Given the description of an element on the screen output the (x, y) to click on. 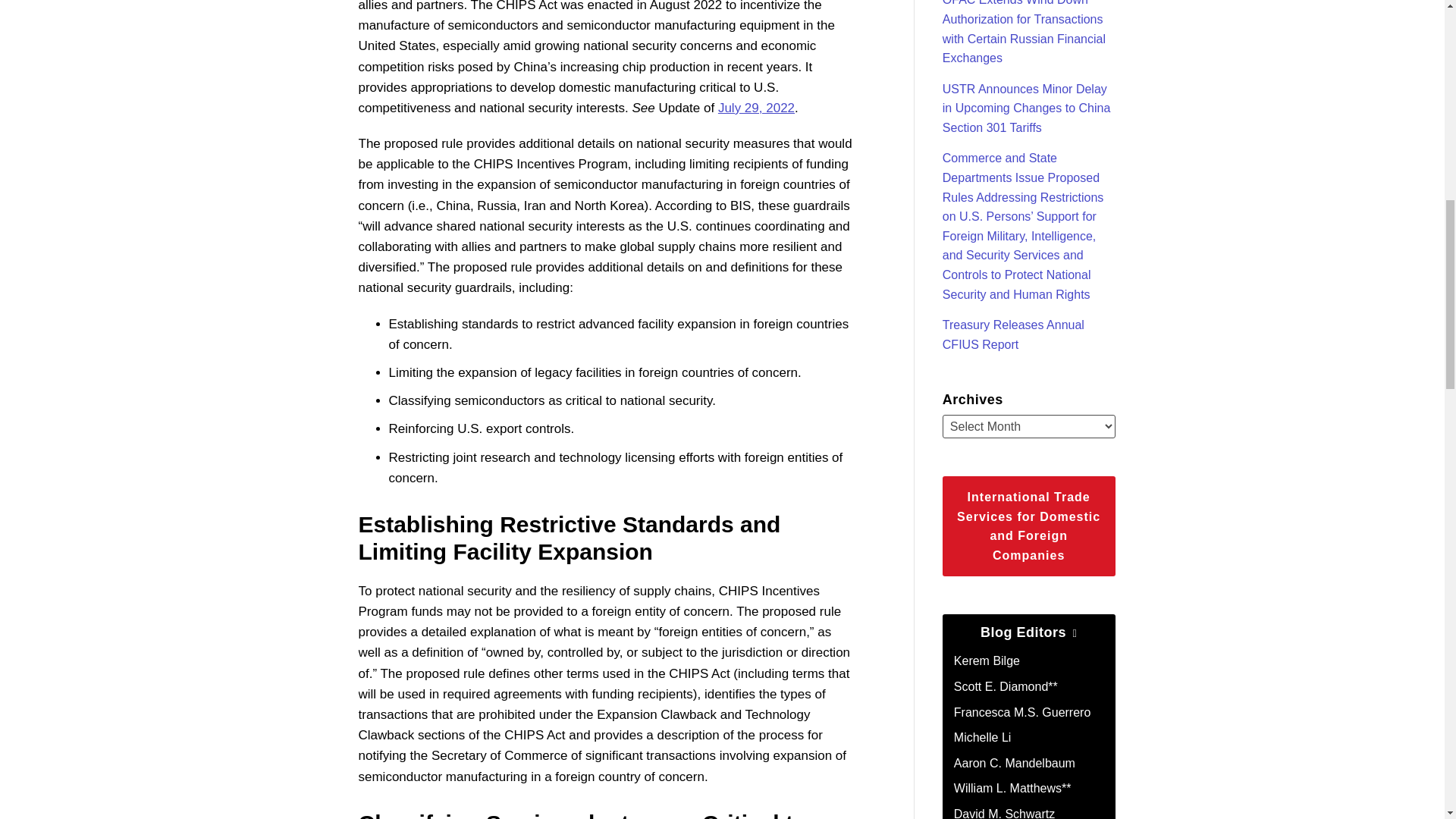
July 29, 2022 (755, 107)
